Given the description of an element on the screen output the (x, y) to click on. 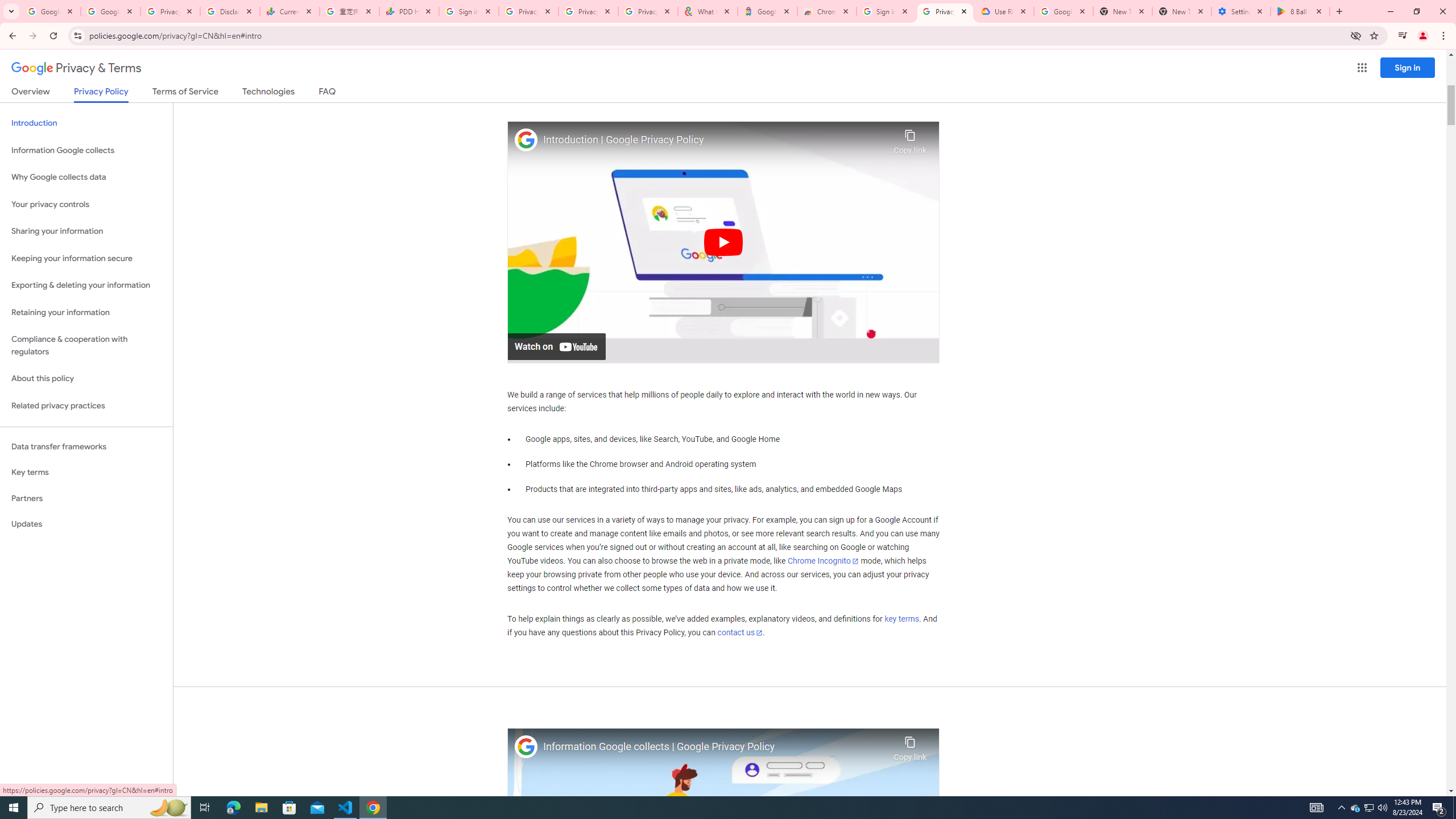
Google Workspace Admin Community (50, 11)
Sign in - Google Accounts (468, 11)
Control your music, videos, and more (1402, 35)
Privacy Checkup (647, 11)
Information Google collects | Google Privacy Policy (715, 747)
Updates (86, 524)
About this policy (86, 379)
Copy link (909, 745)
Your privacy controls (86, 204)
